Given the description of an element on the screen output the (x, y) to click on. 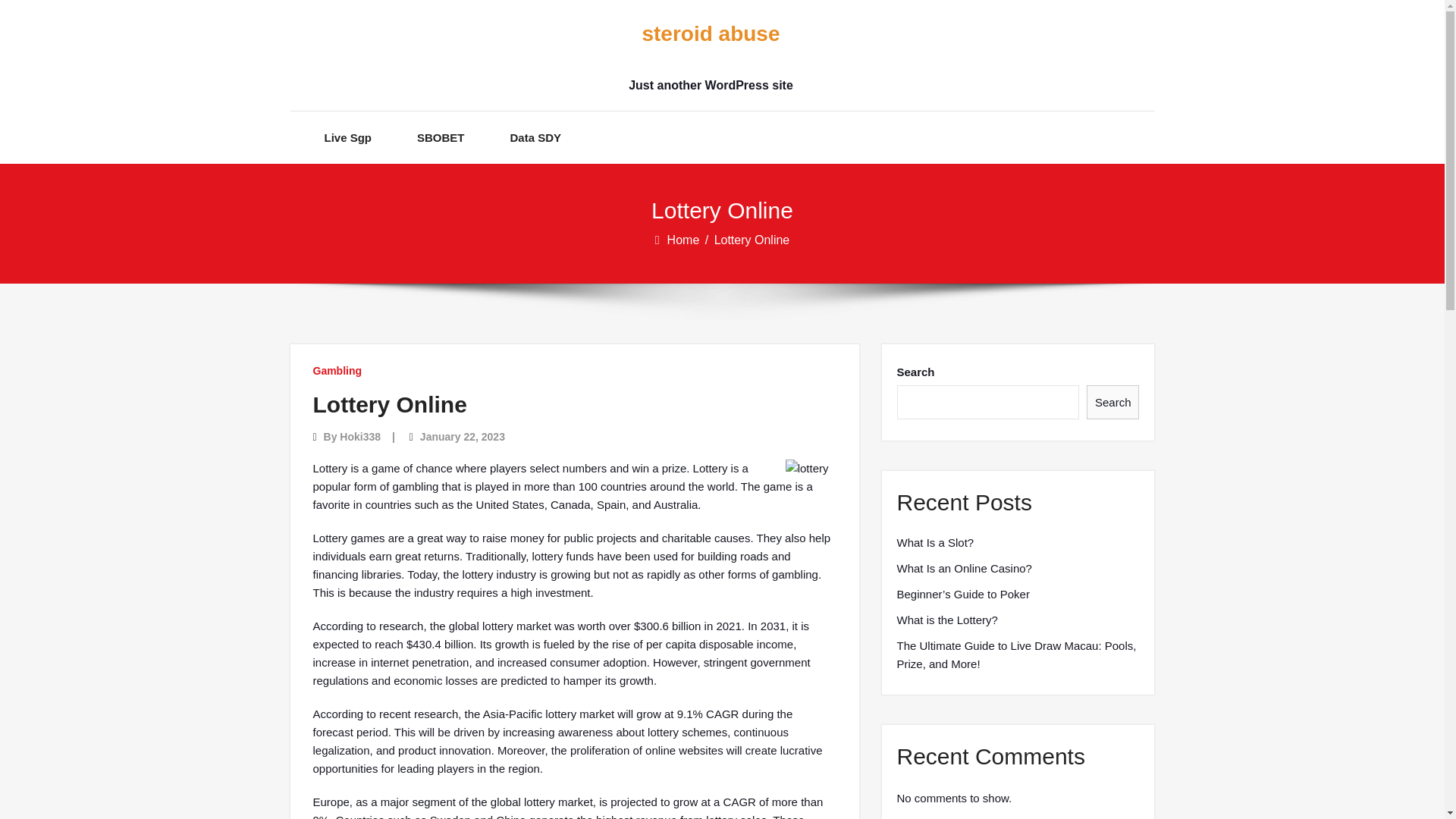
SBOBET (440, 137)
January 22, 2023 (462, 436)
Hoki338 (359, 436)
What Is a Slot? (935, 542)
What is the Lottery? (946, 619)
What Is an Online Casino? (963, 568)
Data SDY (536, 137)
Search (1113, 401)
Gambling (337, 370)
steroid abuse (710, 34)
Home (683, 239)
Live Sgp (348, 137)
